Given the description of an element on the screen output the (x, y) to click on. 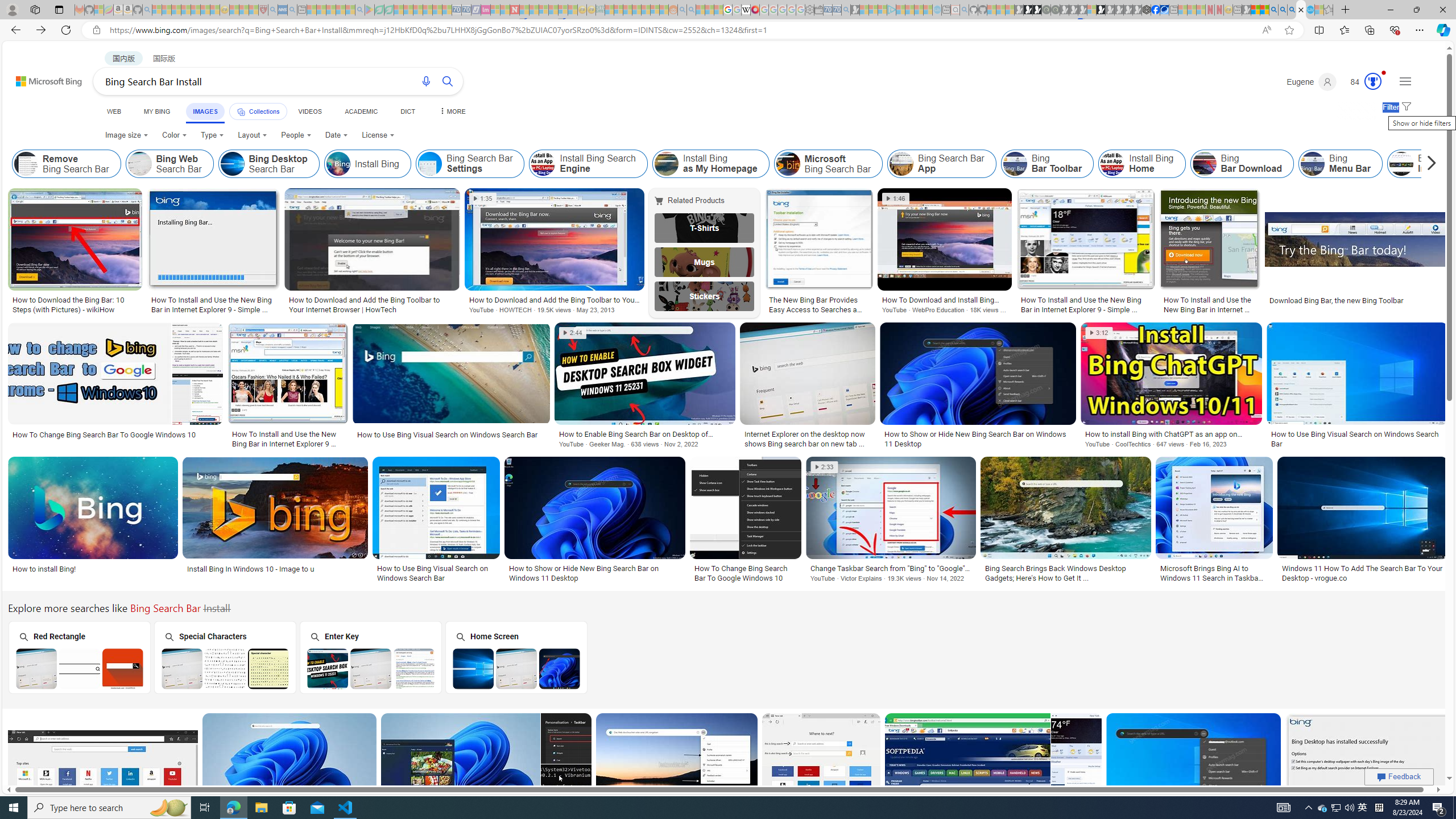
Bing Mugs (704, 261)
Bing Search Bar Enter Key Enter Key (370, 656)
How to install Bing!Save (94, 521)
Bing Desktop Search Bar (268, 163)
AirNow.gov (1163, 9)
Red Rectangle Bing Search Bar (79, 668)
